Given the description of an element on the screen output the (x, y) to click on. 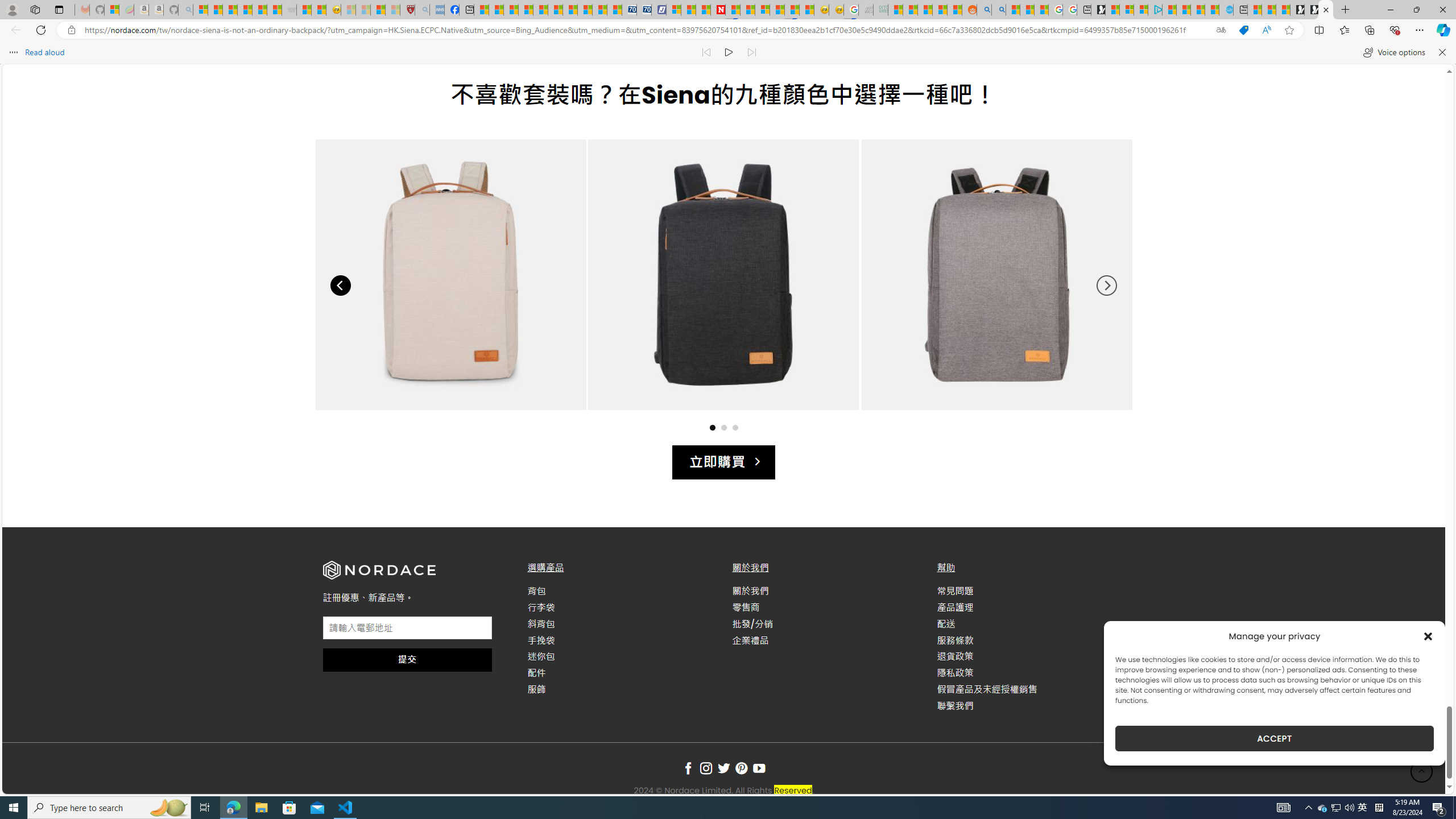
Refresh (40, 29)
App bar (728, 29)
Microsoft Start (1197, 9)
Go to top (1421, 771)
Restore (1416, 9)
